Given the description of an element on the screen output the (x, y) to click on. 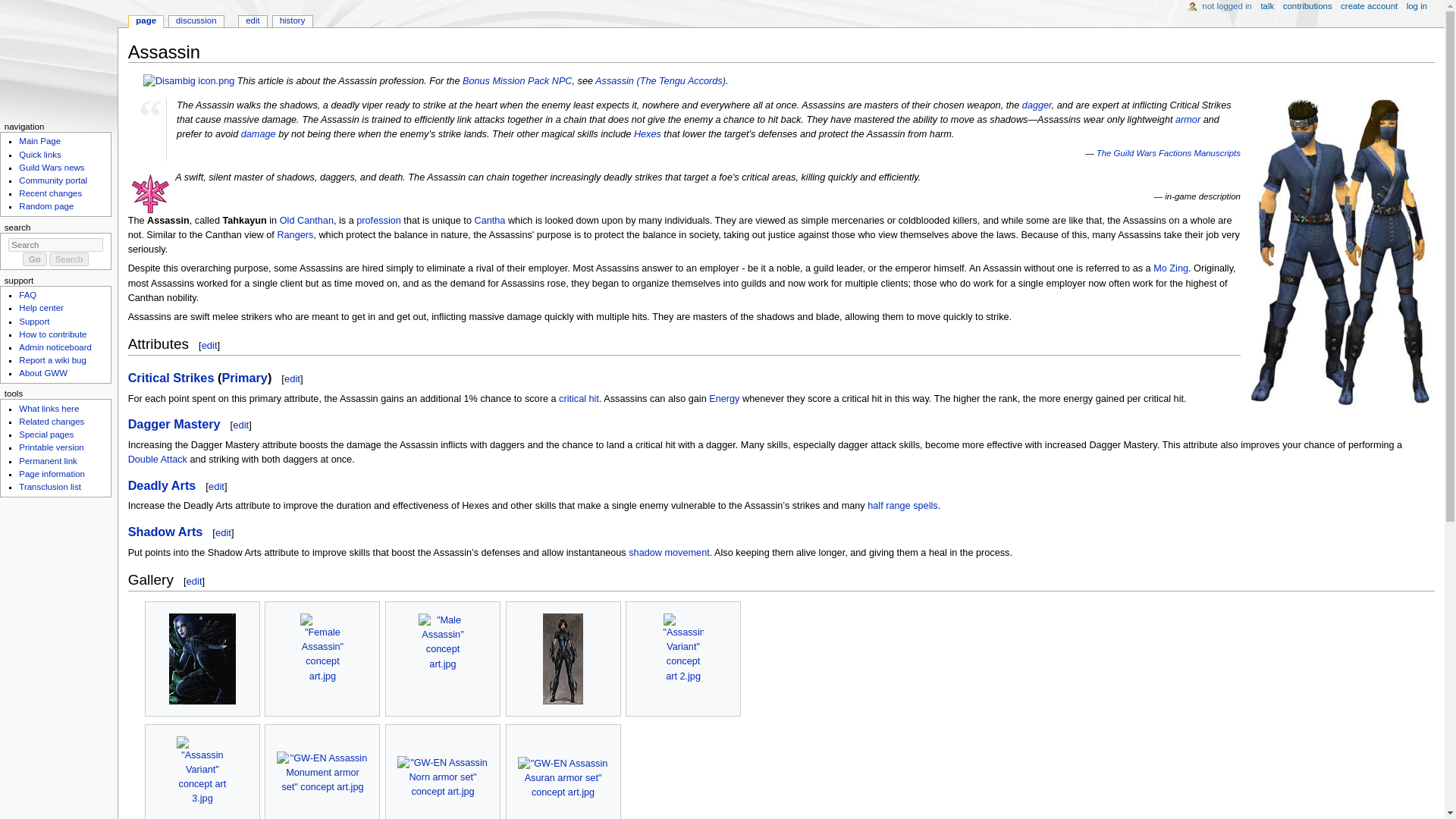
edit (240, 424)
Double Attack (157, 459)
Go (34, 259)
Primary attribute (244, 377)
Bonus Mission Pack (505, 81)
Shadow Arts (165, 531)
Go (34, 259)
half range spells (902, 505)
Assassin (168, 220)
Ranger (294, 235)
